Given the description of an element on the screen output the (x, y) to click on. 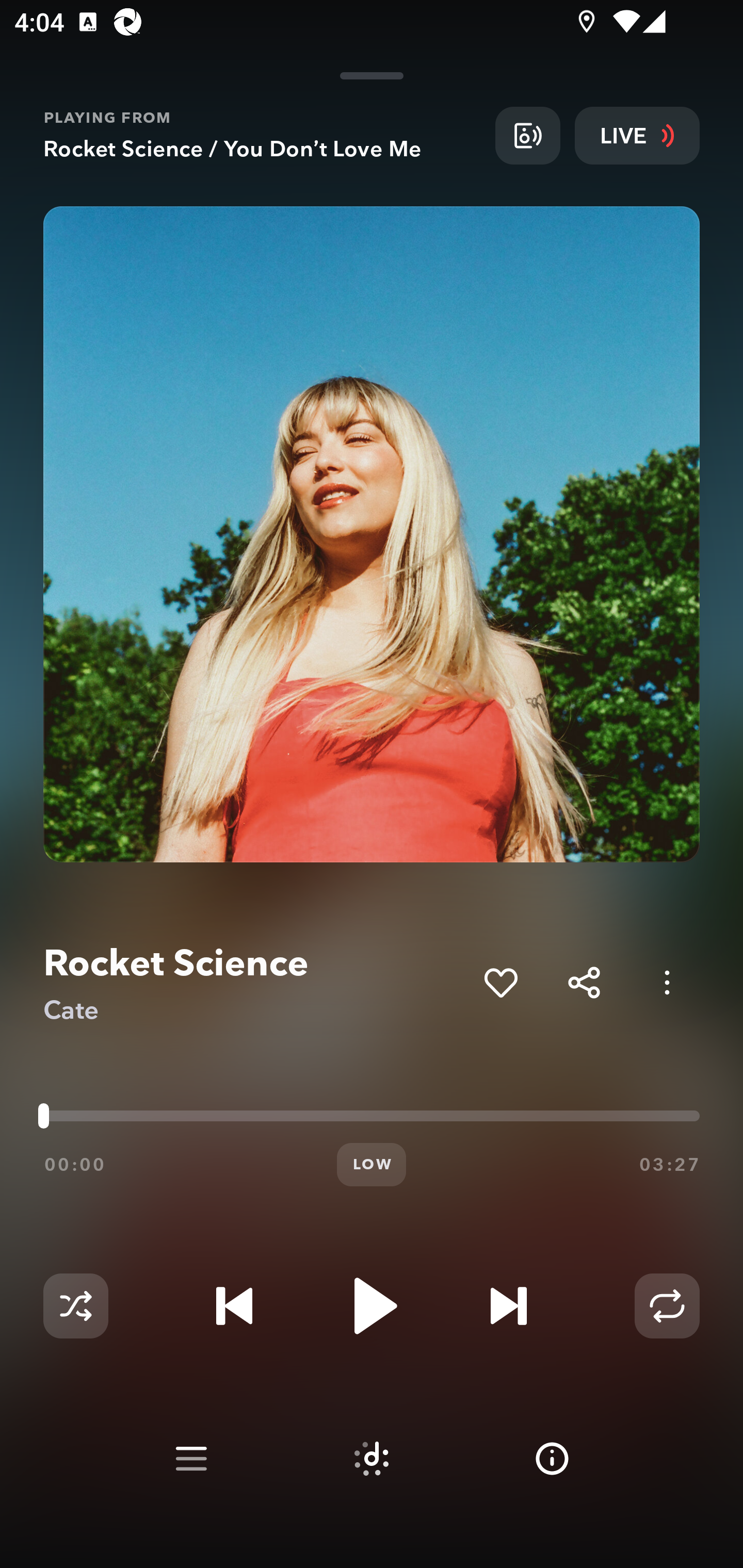
Broadcast (527, 135)
LIVE (637, 135)
PLAYING FROM Rocket Science / You Don’t Love Me (261, 135)
Rocket Science Cate (255, 983)
Add to My Collection (500, 982)
Share (583, 982)
Options (666, 982)
LOW (371, 1164)
Play (371, 1306)
Previous (234, 1306)
Next (508, 1306)
Shuffle enabled (75, 1306)
Repeat All (666, 1306)
Play queue (191, 1458)
Suggested tracks (371, 1458)
Info (551, 1458)
